Given the description of an element on the screen output the (x, y) to click on. 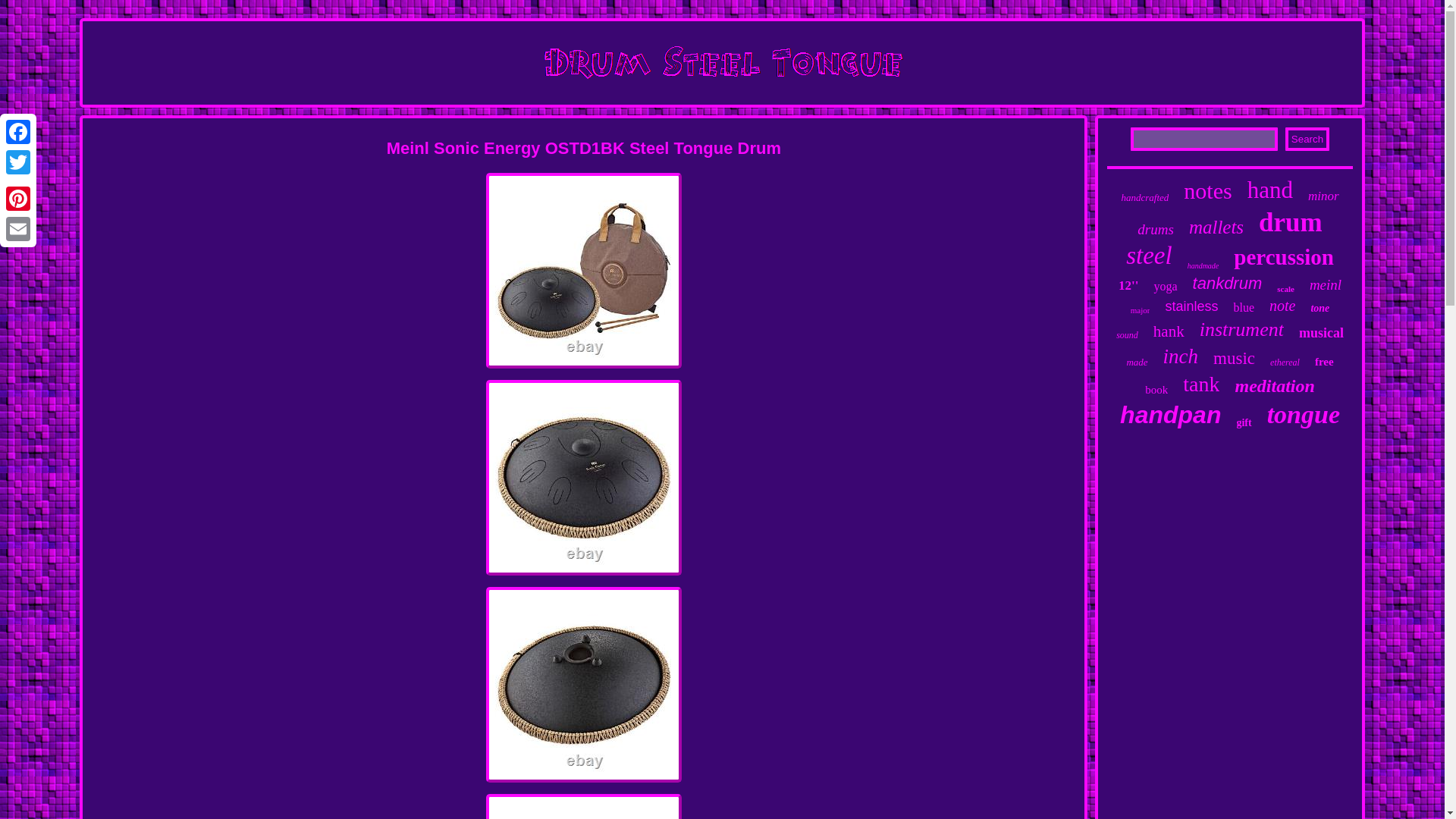
steel (1148, 255)
minor (1323, 196)
handmade (1204, 265)
drums (1155, 229)
meinl (1324, 284)
Search (1307, 138)
Meinl Sonic Energy OSTD1BK Steel Tongue Drum (583, 806)
Search (1307, 138)
notes (1207, 190)
Pinterest (17, 198)
tankdrum (1227, 283)
mallets (1216, 227)
handcrafted (1145, 197)
Facebook (17, 132)
